Given the description of an element on the screen output the (x, y) to click on. 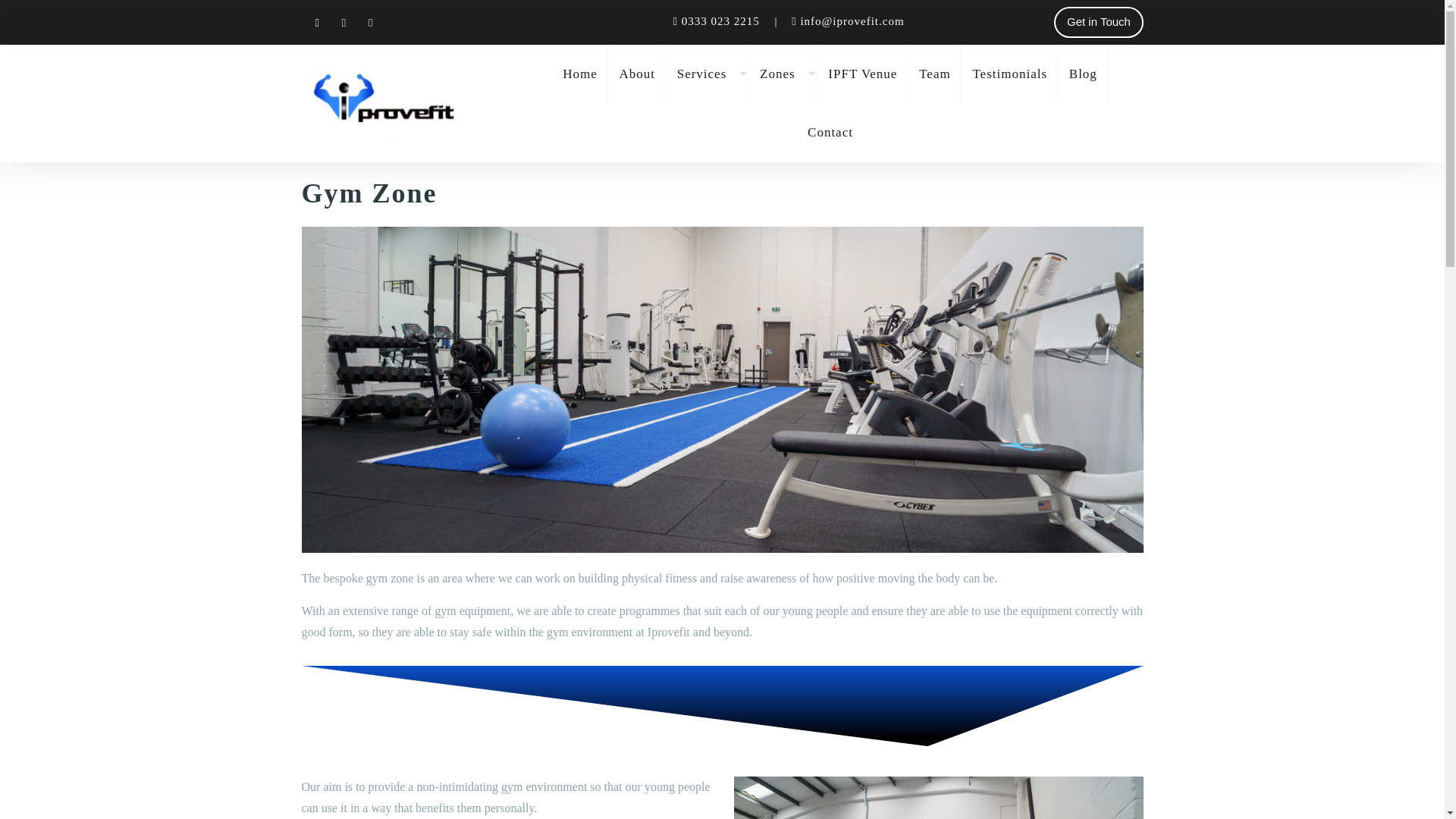
Get in Touch (1098, 21)
Testimonials (1009, 73)
Contact (830, 132)
Home (579, 73)
0333 023 2215 (721, 21)
Services (707, 73)
Blog (1082, 73)
About (636, 73)
Team (934, 73)
Zones (783, 73)
IPFT Venue (862, 73)
